Given the description of an element on the screen output the (x, y) to click on. 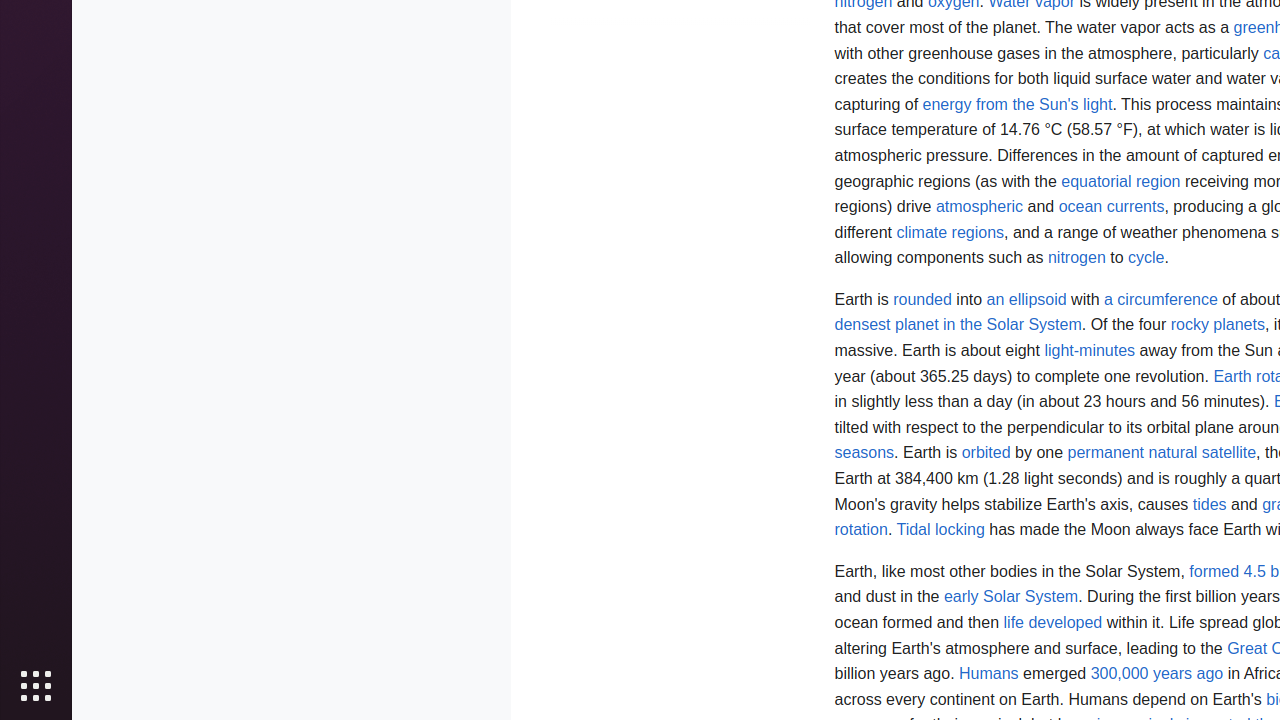
equatorial region Element type: link (1121, 181)
orbited Element type: link (986, 453)
300,000 years ago Element type: link (1157, 674)
